Given the description of an element on the screen output the (x, y) to click on. 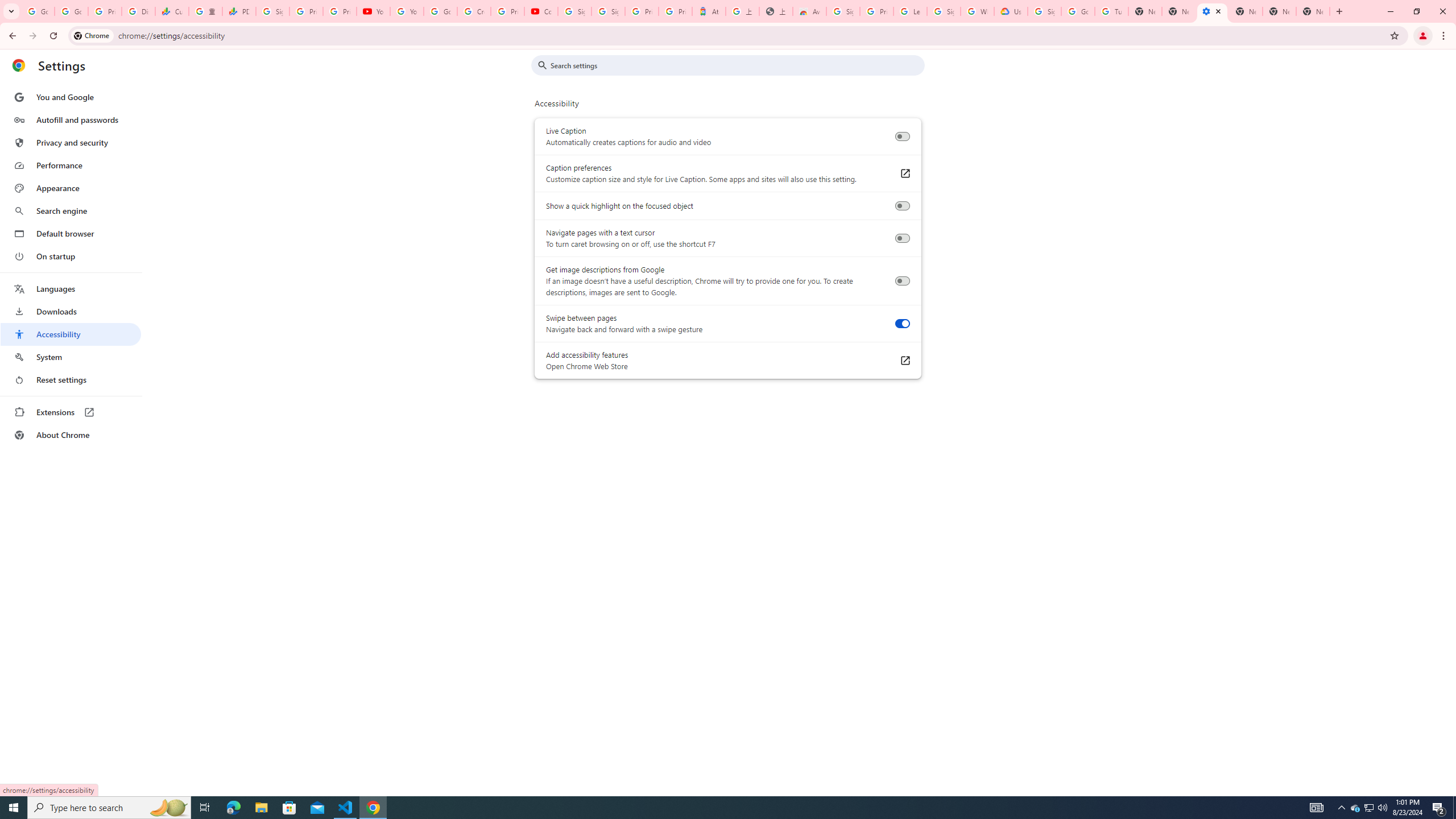
About Chrome (70, 434)
YouTube (406, 11)
Turn cookies on or off - Computer - Google Account Help (1111, 11)
New Tab (1313, 11)
Accessibility (70, 333)
Google Account Help (441, 11)
Currencies - Google Finance (171, 11)
Downloads (70, 311)
Autofill and passwords (70, 119)
Settings - Accessibility (1212, 11)
